Given the description of an element on the screen output the (x, y) to click on. 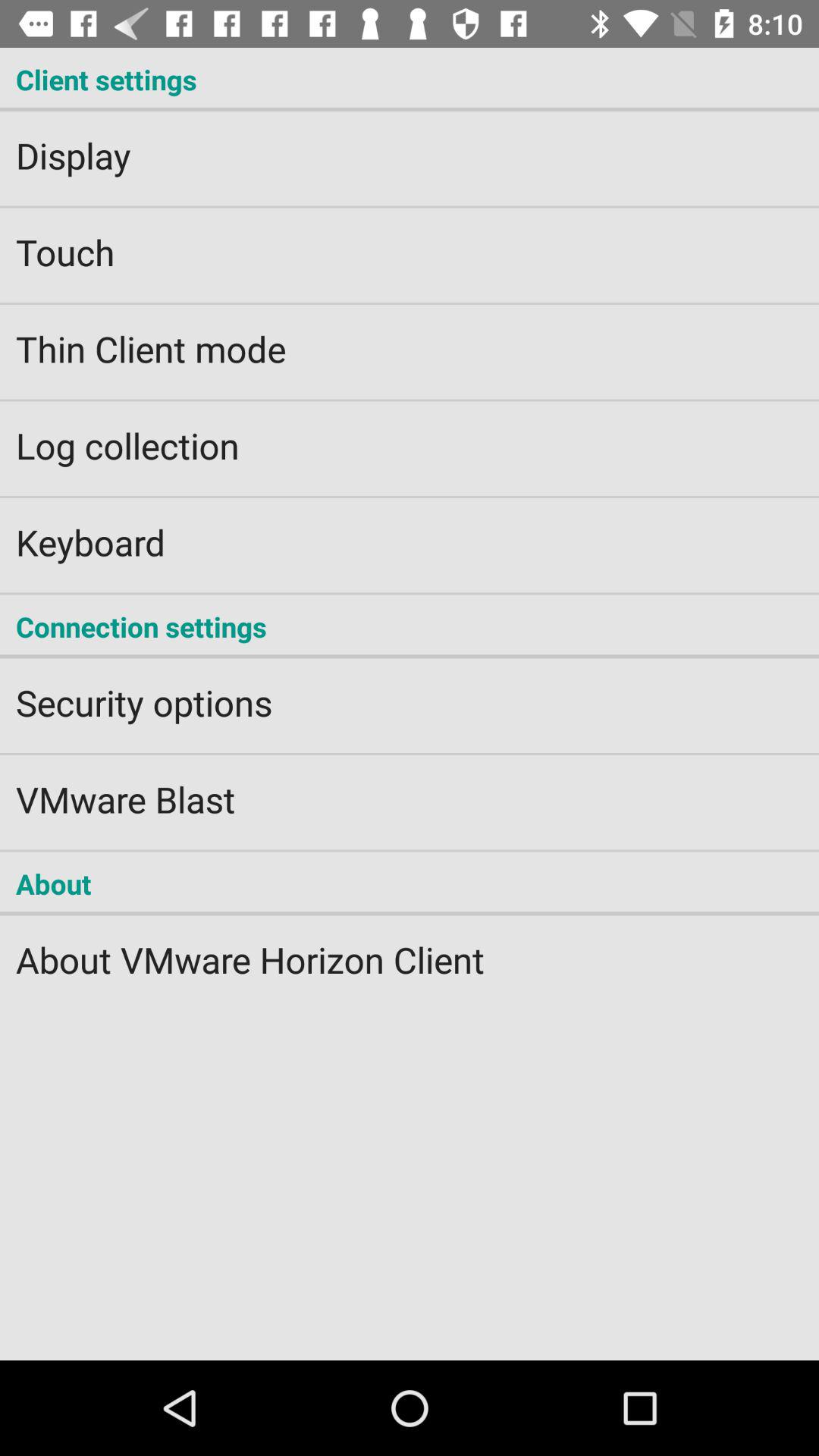
turn on the keyboard item (409, 532)
